Given the description of an element on the screen output the (x, y) to click on. 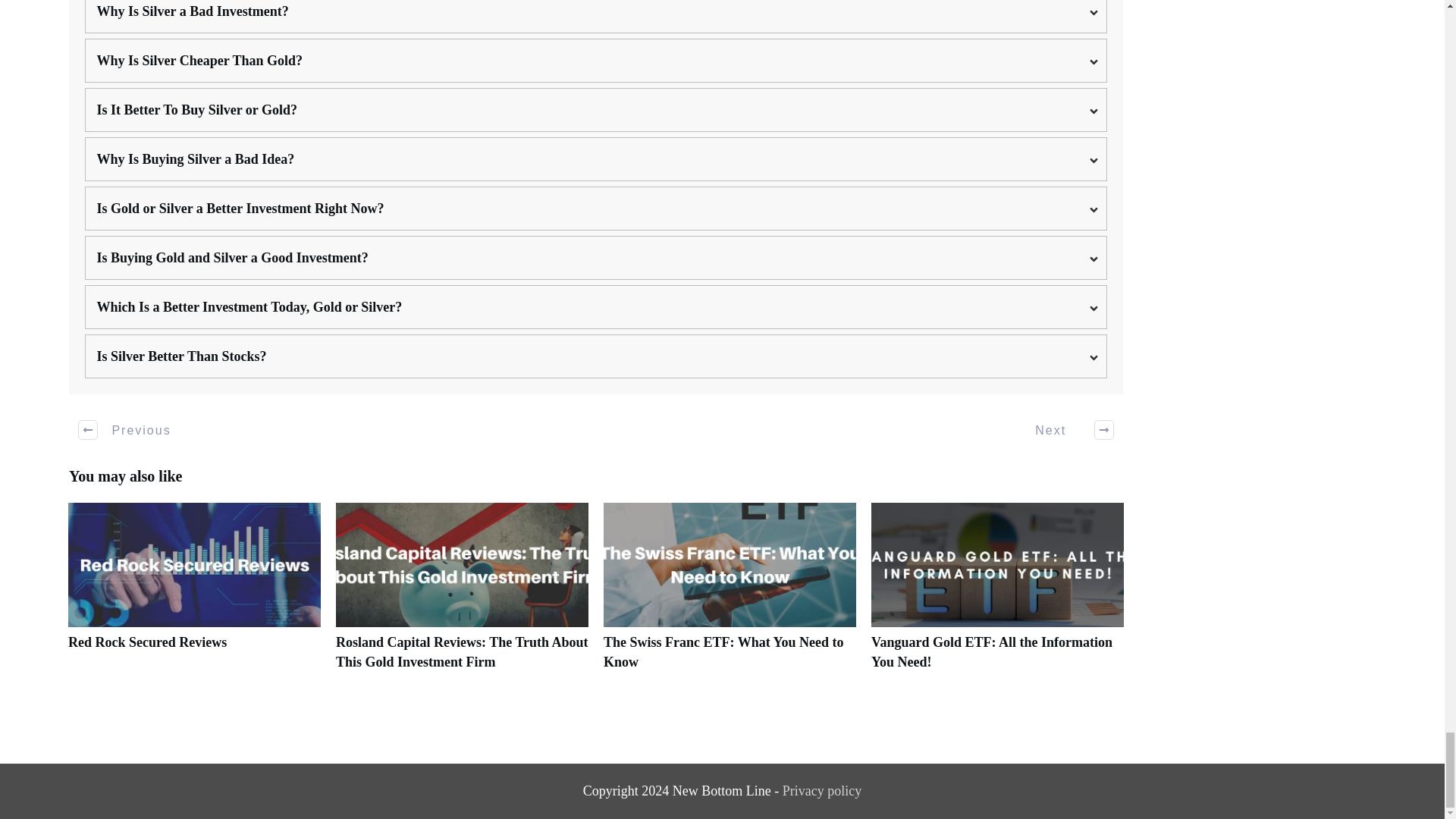
Privacy policy (822, 790)
Red Rock Secured Reviews (147, 642)
Vanguard Gold ETF: All the Information You Need! (991, 651)
Next (1065, 429)
Red Rock Secured Reviews (147, 642)
The Swiss Franc ETF: What You Need to Know (724, 651)
Red Rock Secured Reviews (194, 594)
The Swiss Franc ETF: What You Need to Know (724, 651)
Vanguard Gold ETF: All the Information You Need! (991, 651)
Vanguard Gold ETF: All the Information You Need! (997, 594)
The Swiss Franc ETF: What You Need to Know (730, 594)
Previous (125, 429)
